Given the description of an element on the screen output the (x, y) to click on. 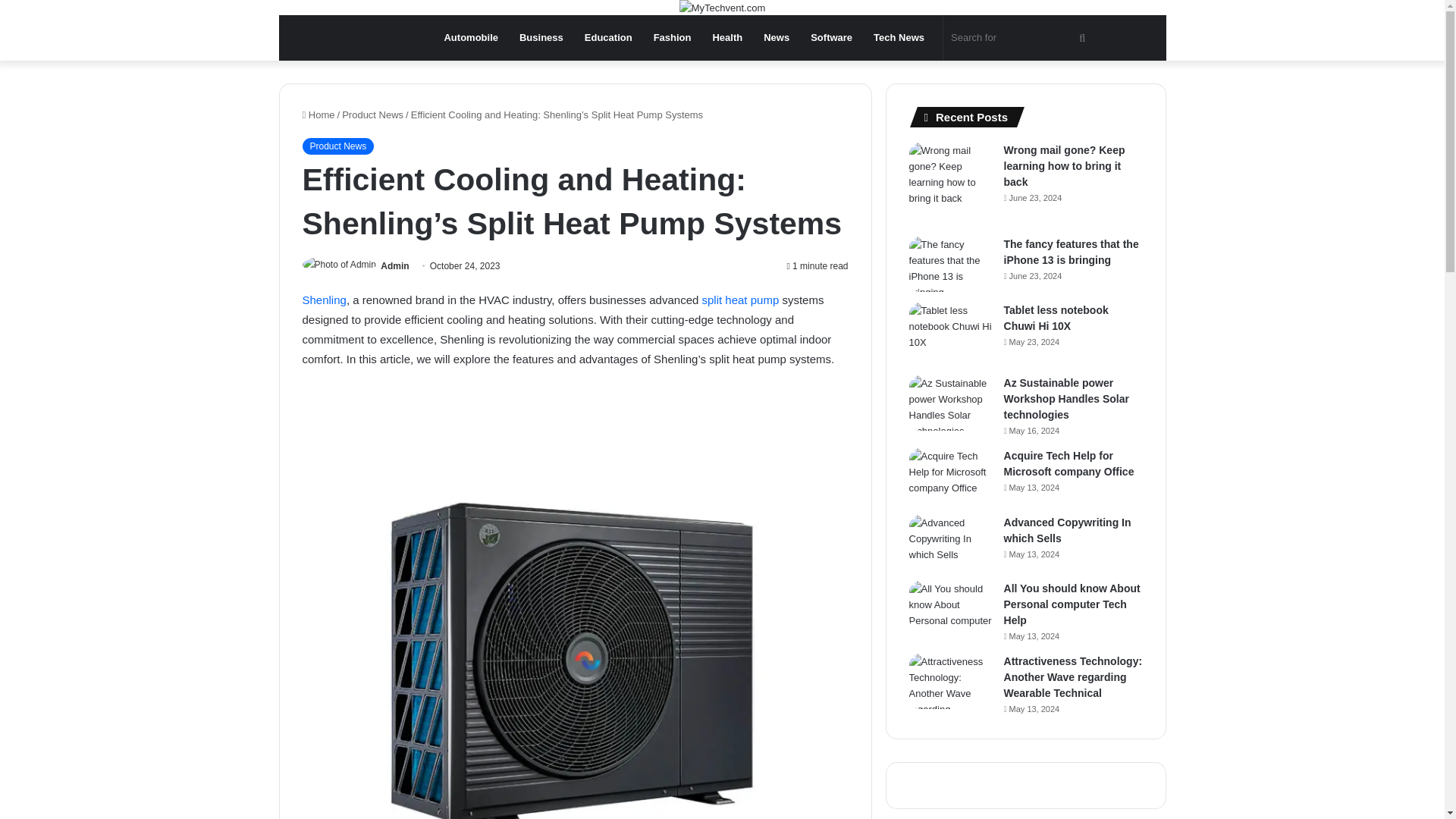
Business (540, 37)
Software (831, 37)
Shenling (323, 299)
Admin (394, 266)
Search for (1020, 37)
split heat pump (739, 299)
Product News (337, 146)
MyTechvent.com (722, 7)
Education (608, 37)
Health (726, 37)
Fashion (672, 37)
Automobile (470, 37)
News (775, 37)
Product News (372, 114)
Home (317, 114)
